Given the description of an element on the screen output the (x, y) to click on. 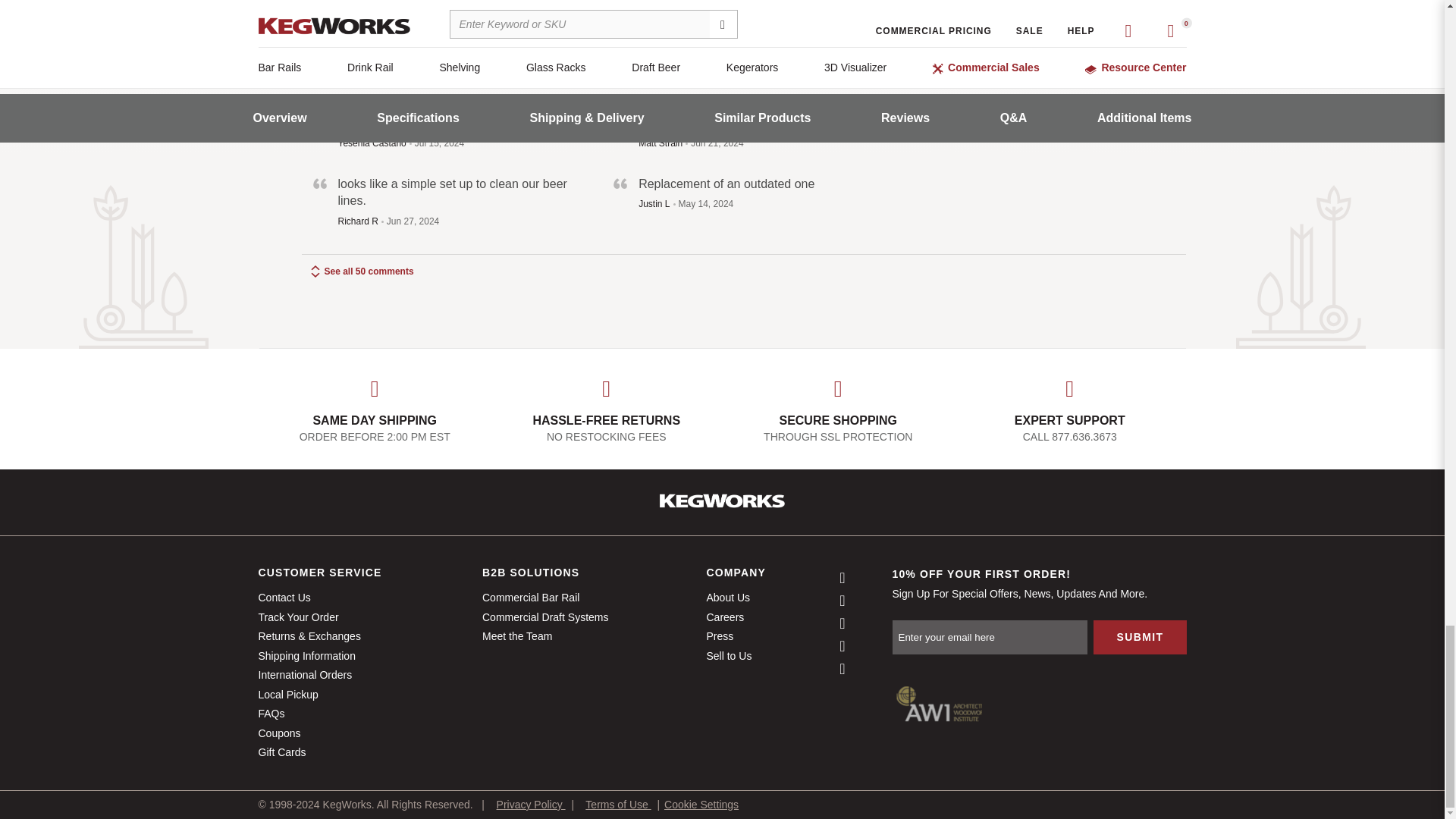
Submit (1139, 636)
